Given the description of an element on the screen output the (x, y) to click on. 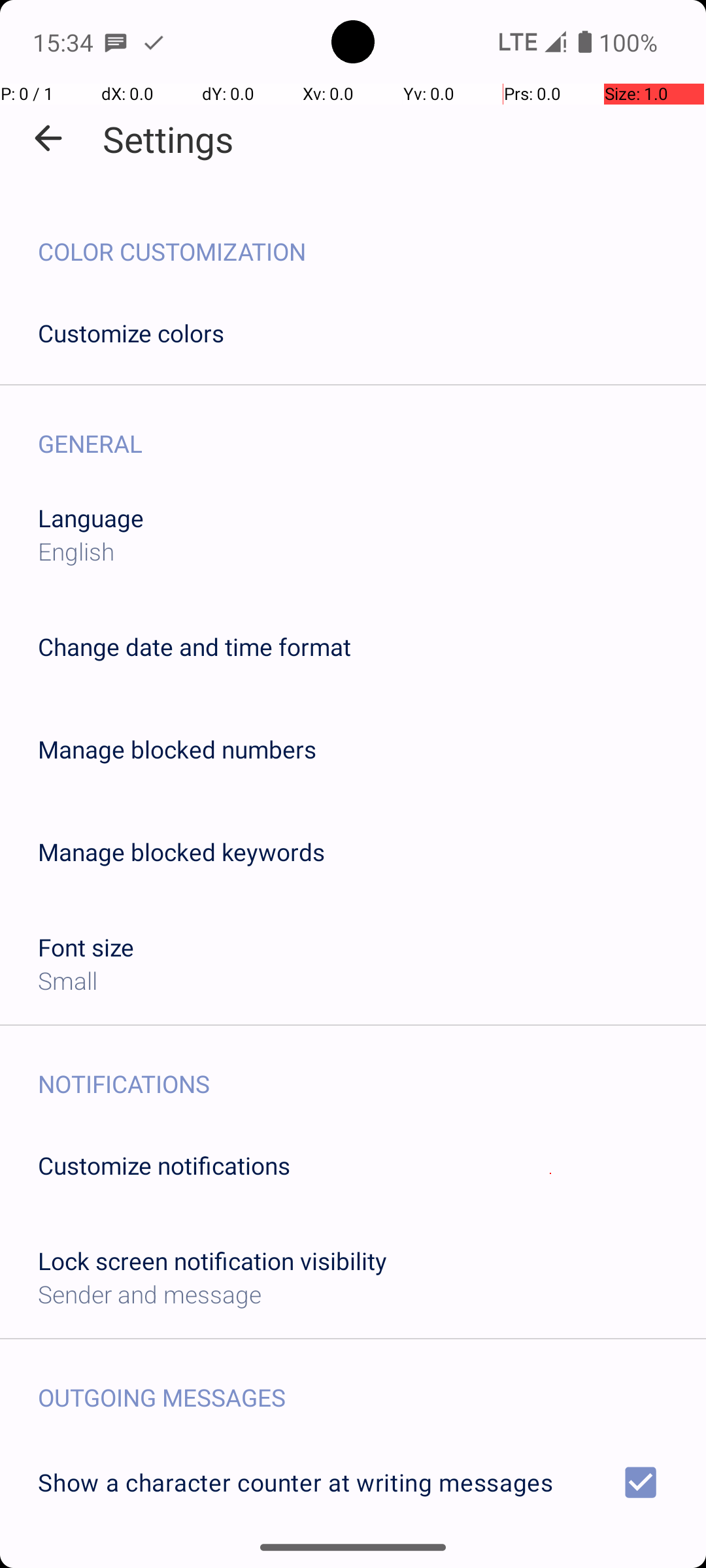
Small Element type: android.widget.TextView (67, 979)
Sender and message Element type: android.widget.TextView (149, 1293)
